Given the description of an element on the screen output the (x, y) to click on. 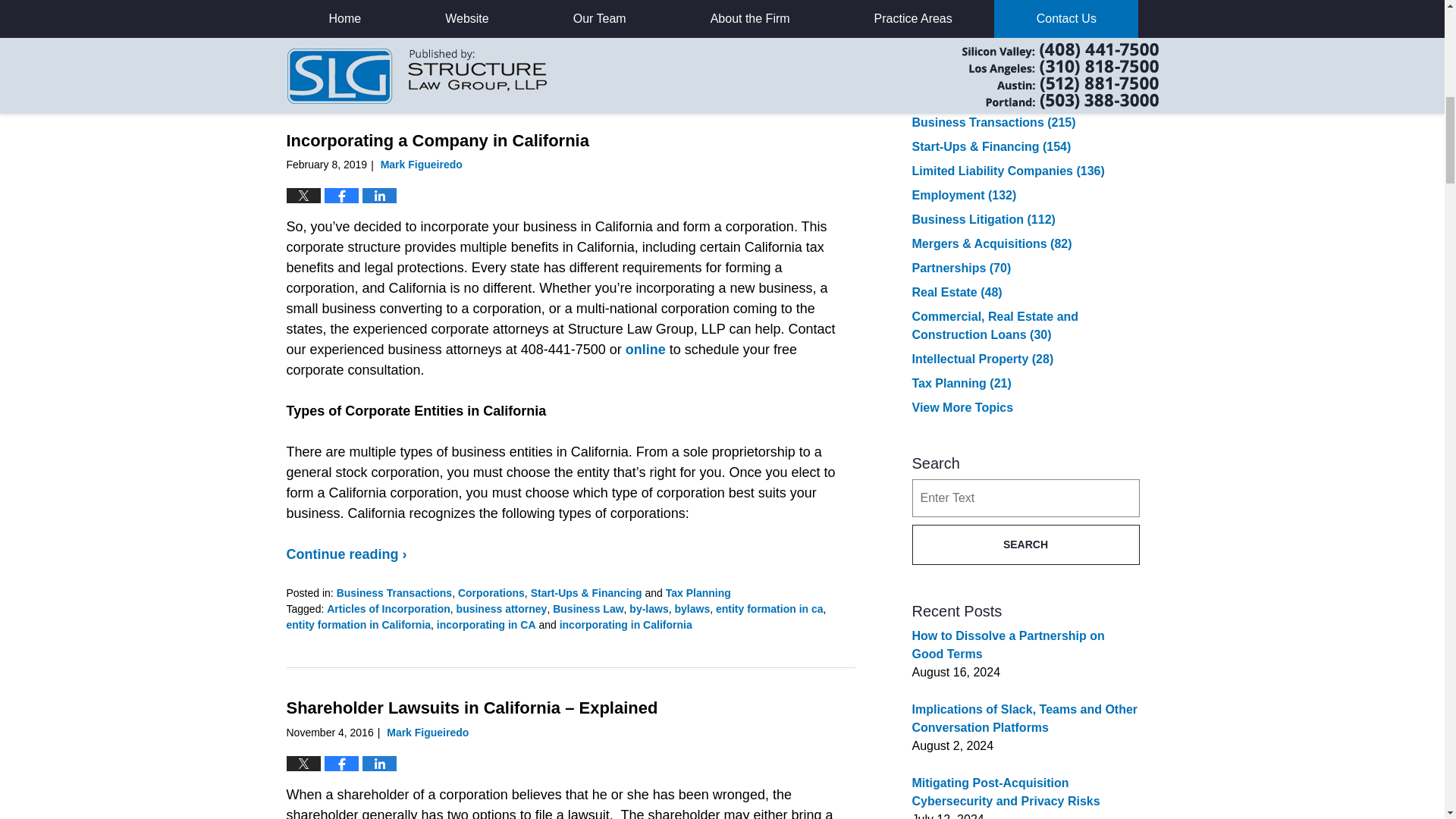
View all posts in Bankruptcy (365, 41)
Bankruptcy (365, 41)
Continue Reading Incorporating a Company in California (346, 554)
View all posts tagged with business attorney (502, 608)
View all posts tagged with business attorney (371, 57)
View all posts tagged with Articles of Incorporation (387, 608)
business attorney (371, 57)
Incorporating a Company in California (437, 140)
View all posts in Tax Planning (697, 592)
Debtor and Creditor (567, 57)
